Given the description of an element on the screen output the (x, y) to click on. 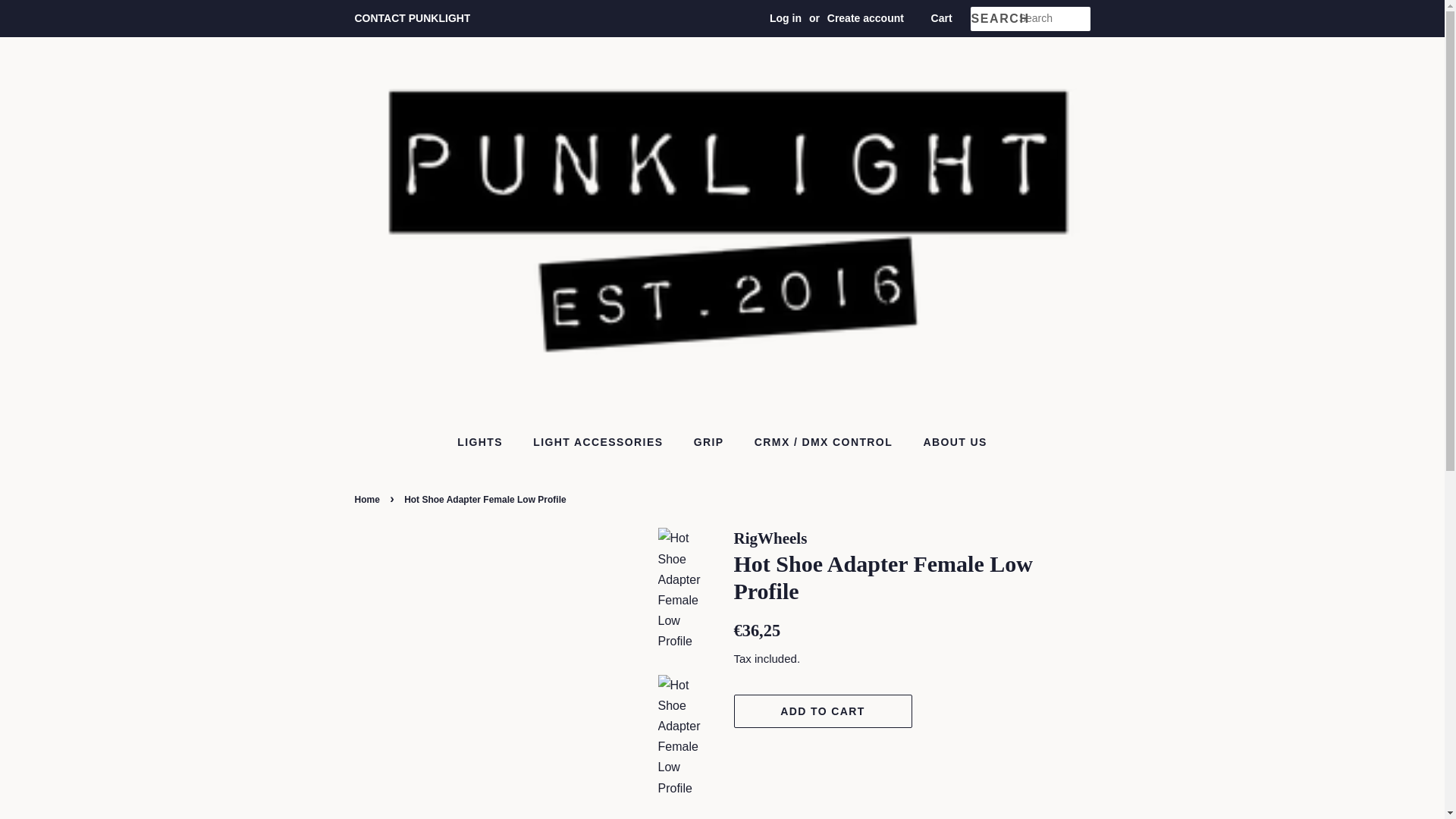
Cart (941, 18)
Back to the frontpage (369, 499)
Create account (865, 18)
CONTACT PUNKLIGHT (412, 18)
Log in (786, 18)
SEARCH (994, 18)
